Given the description of an element on the screen output the (x, y) to click on. 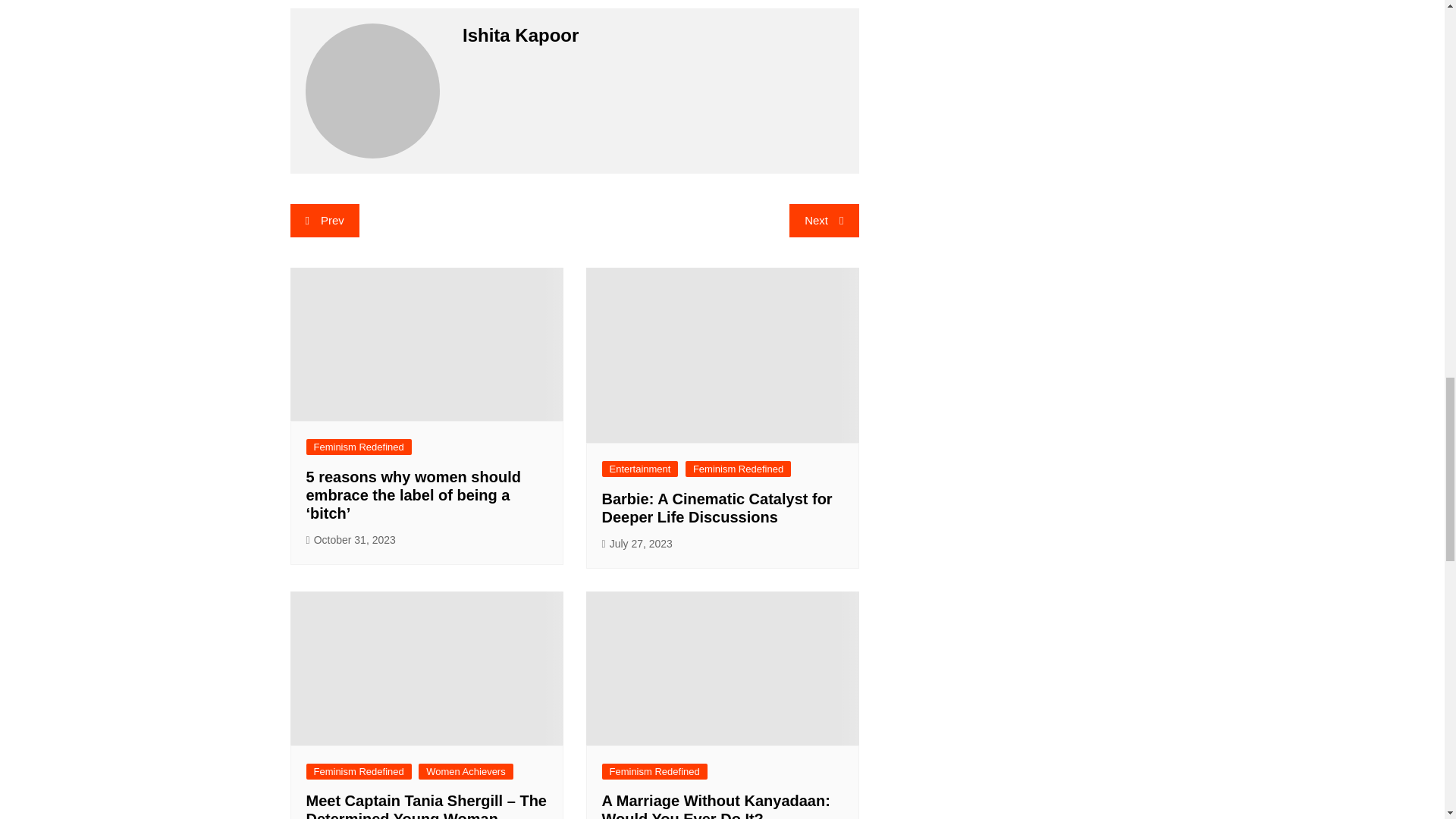
Next (824, 220)
Feminism Redefined (358, 771)
Barbie: A Cinematic Catalyst for Deeper Life Discussions (717, 507)
Entertainment (640, 468)
July 27, 2023 (637, 543)
Prev (323, 220)
A Marriage Without Kanyadaan: Would You Ever Do It? (715, 805)
Women Achievers (466, 771)
Feminism Redefined (654, 771)
Feminism Redefined (737, 468)
